Given the description of an element on the screen output the (x, y) to click on. 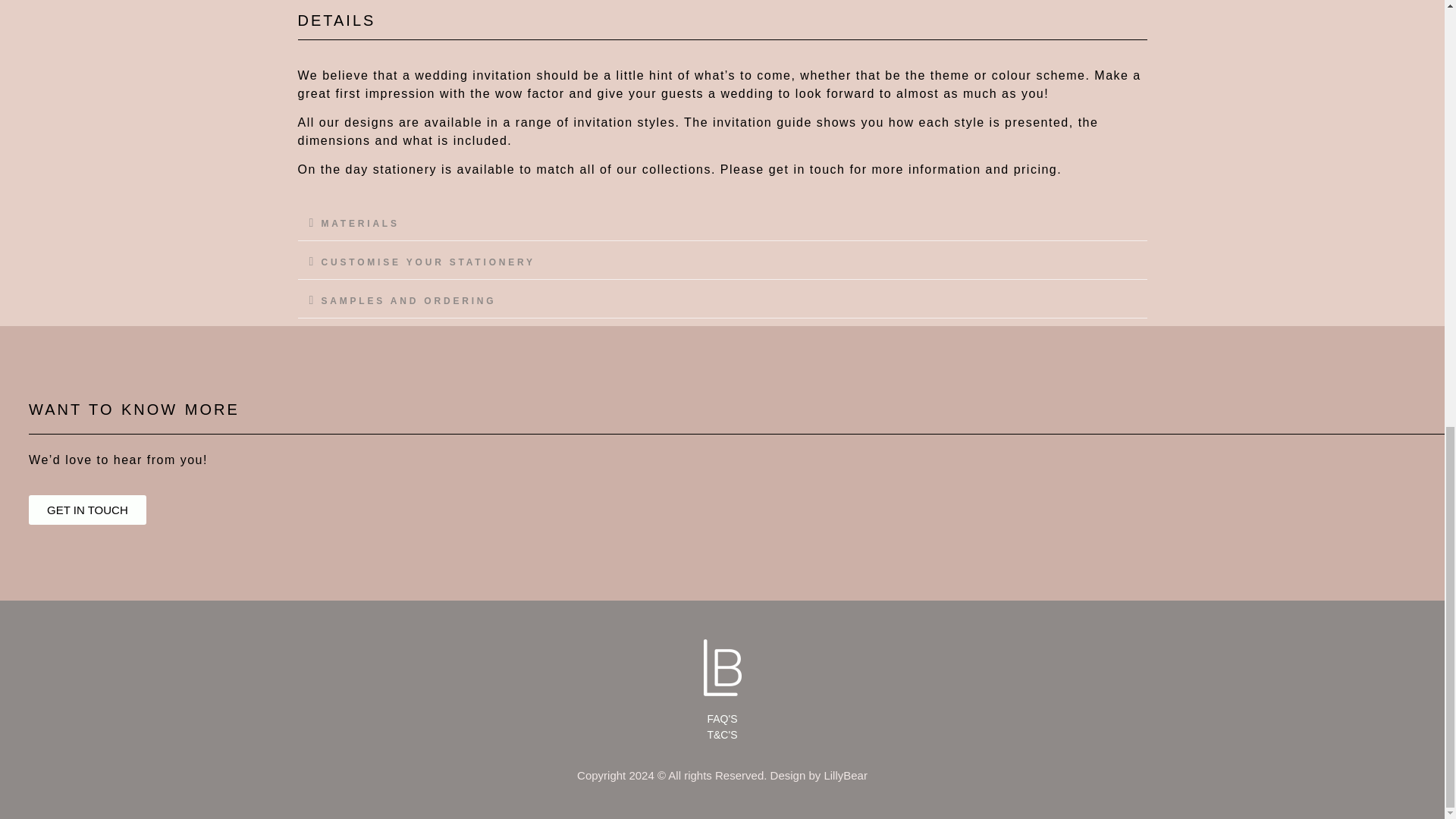
FAQ'S (721, 719)
SAMPLES AND ORDERING (408, 300)
CUSTOMISE YOUR STATIONERY (428, 262)
MATERIALS (359, 223)
GET IN TOUCH (88, 509)
